Given the description of an element on the screen output the (x, y) to click on. 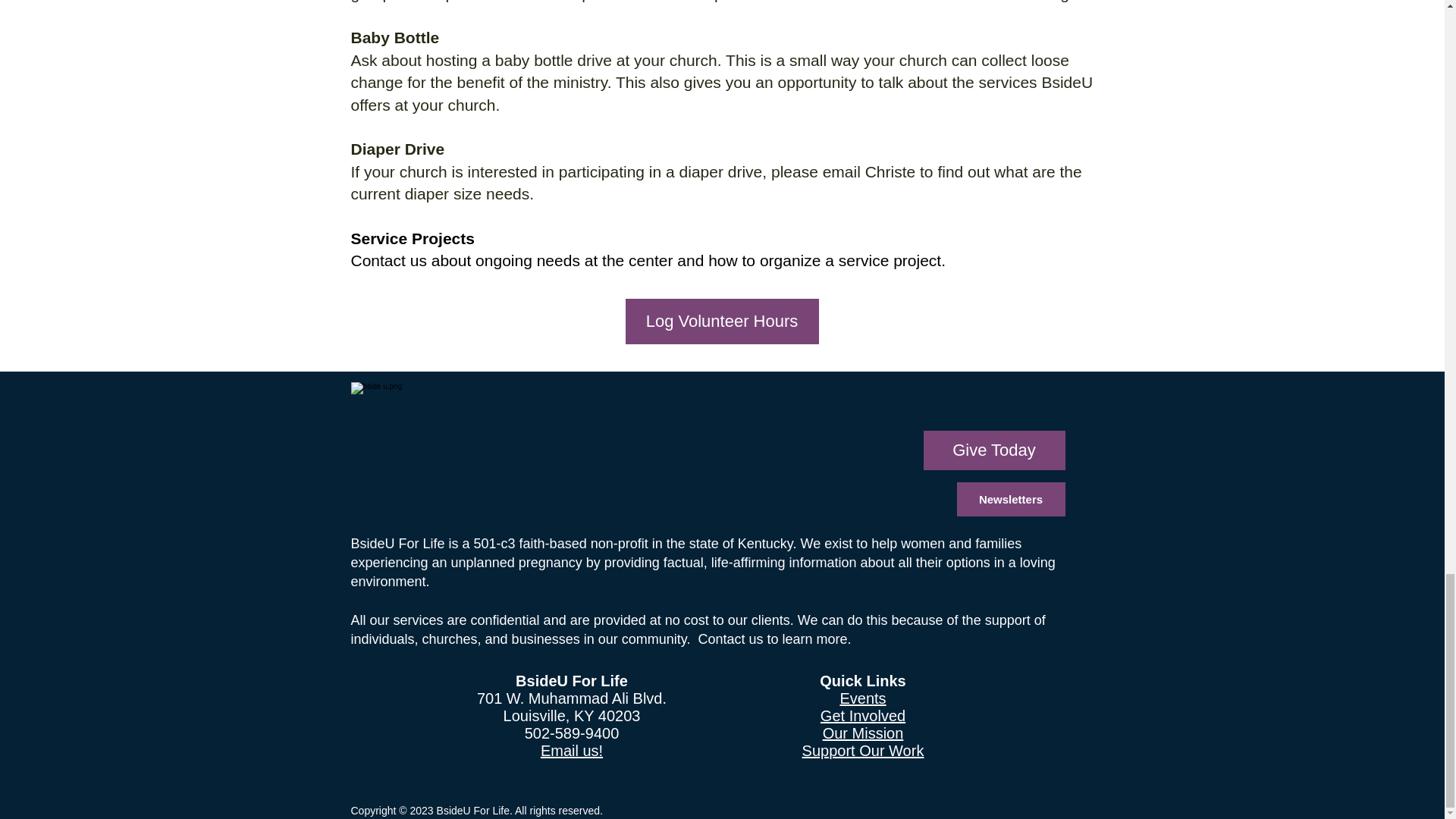
502-589-9400 (572, 733)
Log Volunteer Hours (721, 320)
Give Today (994, 450)
Newsletters (1010, 499)
Get Involved (863, 715)
Our Mission (863, 733)
Email us! (571, 750)
Events (862, 698)
